Given the description of an element on the screen output the (x, y) to click on. 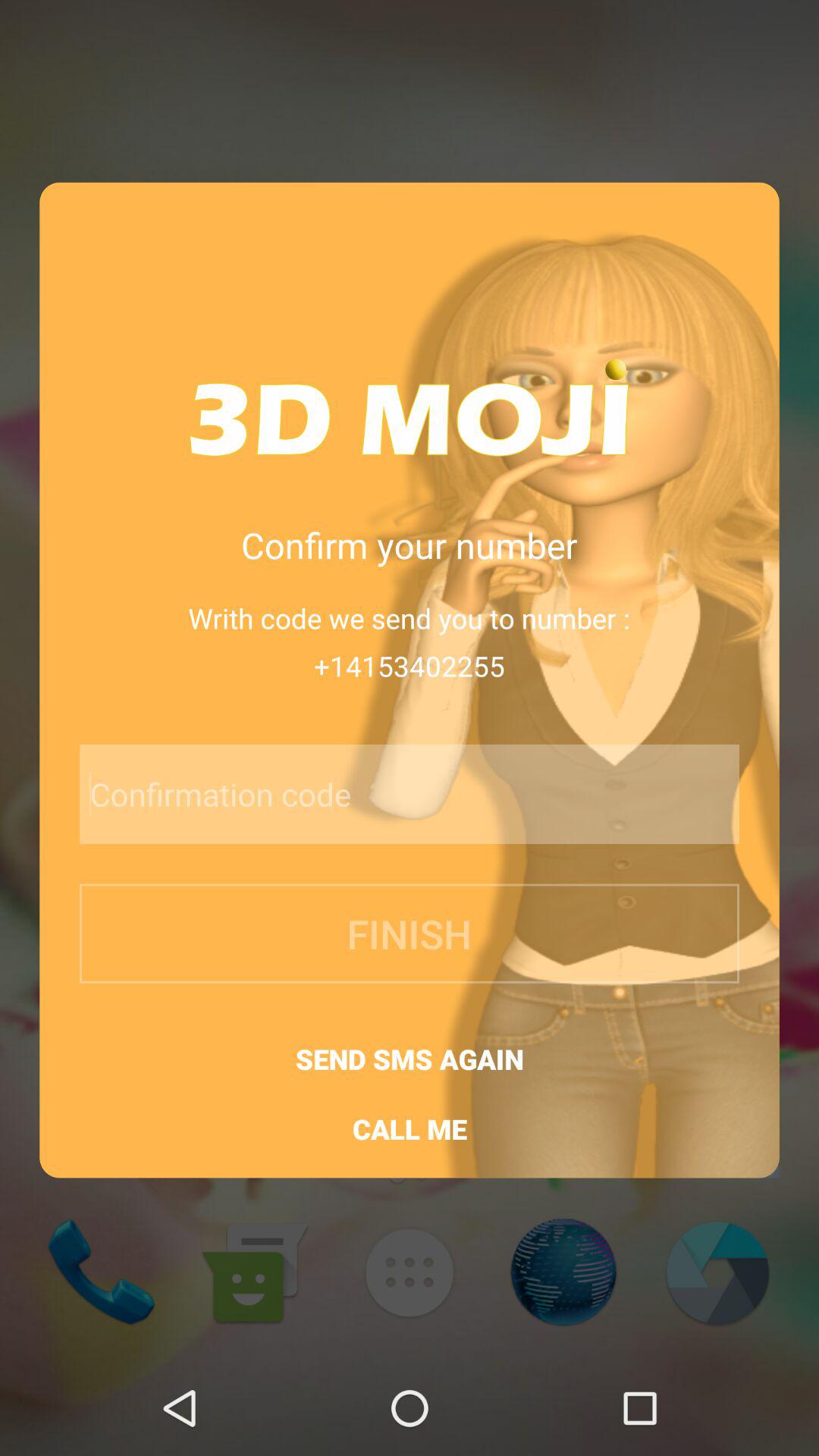
confirmation code (369, 794)
